Given the description of an element on the screen output the (x, y) to click on. 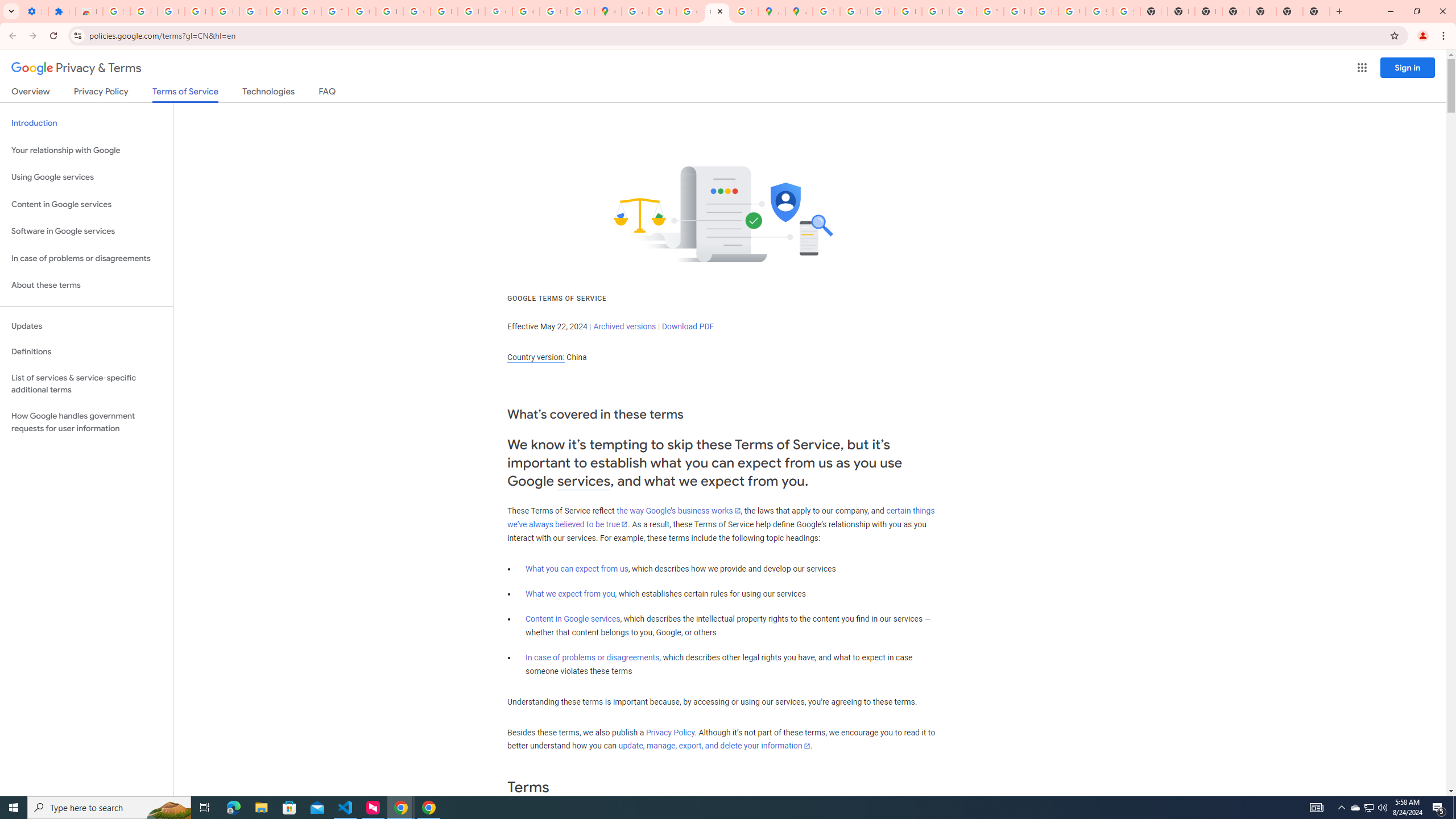
List of services & service-specific additional terms (86, 383)
YouTube (990, 11)
Sign in - Google Accounts (253, 11)
Archived versions (624, 326)
Using Google services (86, 176)
What we expect from you (570, 593)
